Given the description of an element on the screen output the (x, y) to click on. 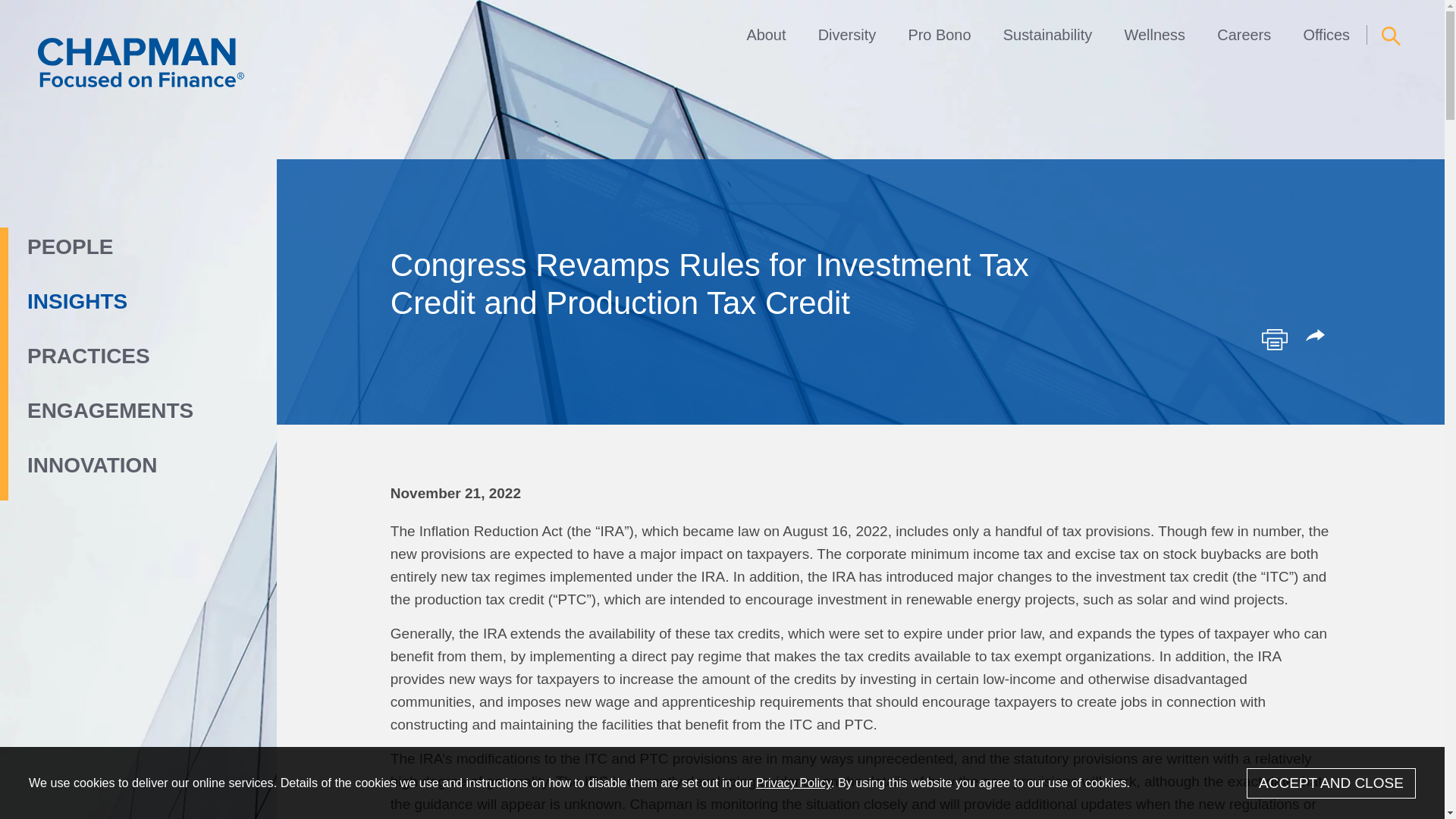
Main Content (667, 19)
Share (1318, 336)
Search (1390, 35)
Menu (674, 19)
PEOPLE (106, 246)
Main Menu (674, 19)
INSIGHTS (106, 301)
